Given the description of an element on the screen output the (x, y) to click on. 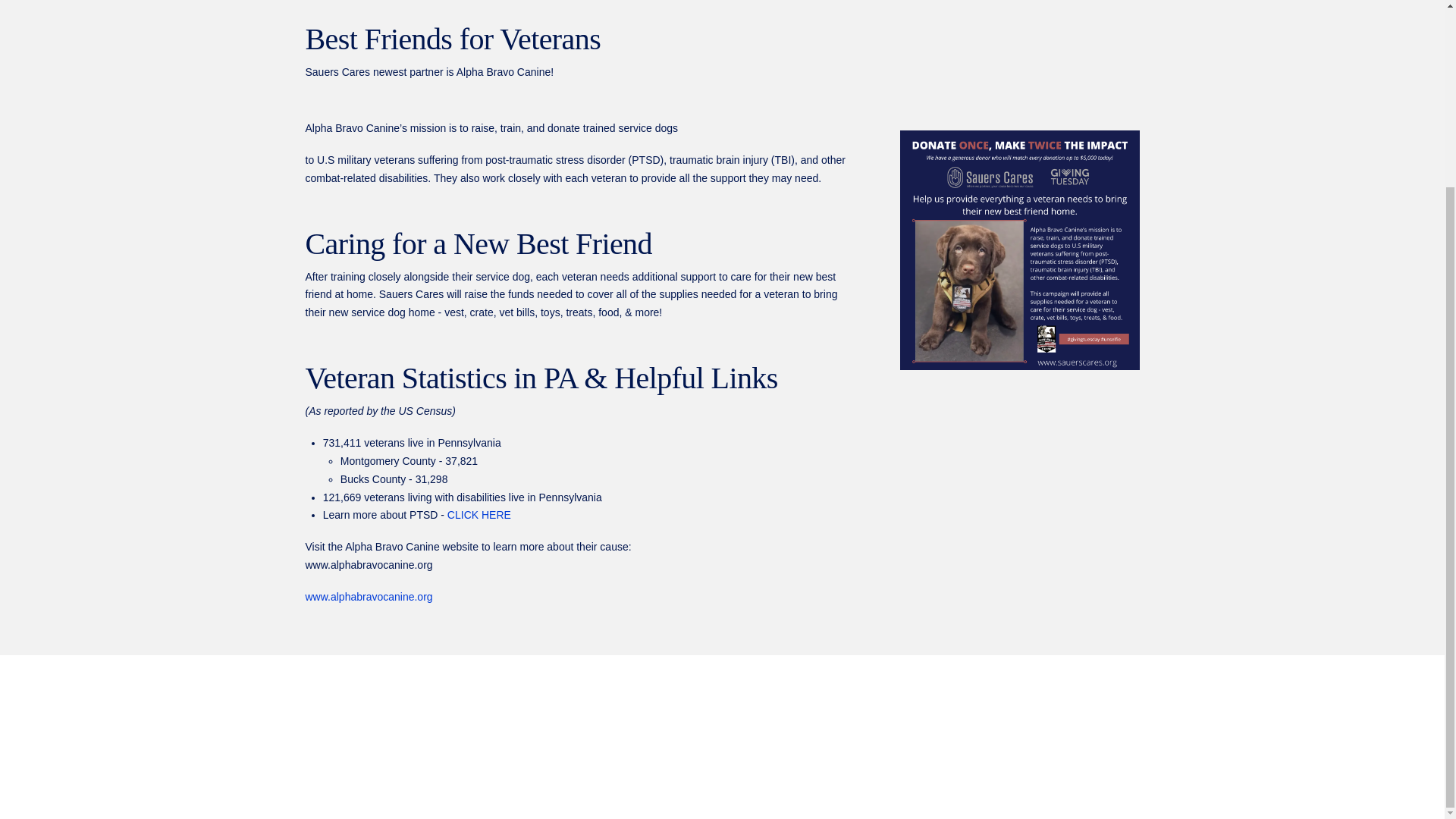
CLICK HERE (478, 514)
GET INVOLVED (925, 747)
HOPE BUILDERS (516, 747)
OUR PARTNERS (726, 747)
DONATE (995, 747)
SUBMIT A PROJECT (826, 747)
www.alphabravocanine.org (368, 596)
CURRENT PROJECTS (622, 747)
ABOUT (444, 747)
